Given the description of an element on the screen output the (x, y) to click on. 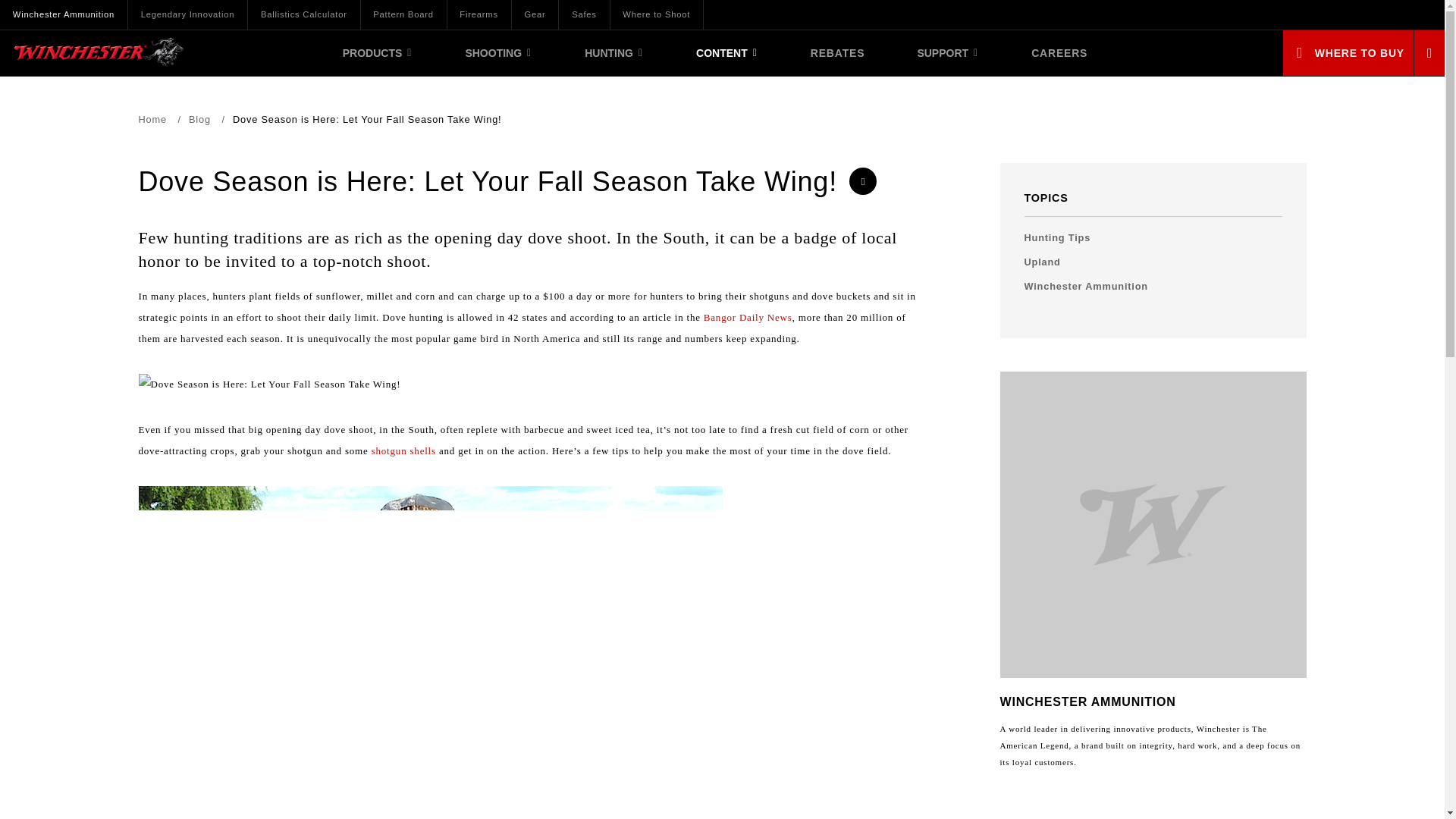
Skip to main content (72, 2)
SHOOTING (499, 53)
HUNTING (614, 53)
PRODUCTS (377, 53)
